Given the description of an element on the screen output the (x, y) to click on. 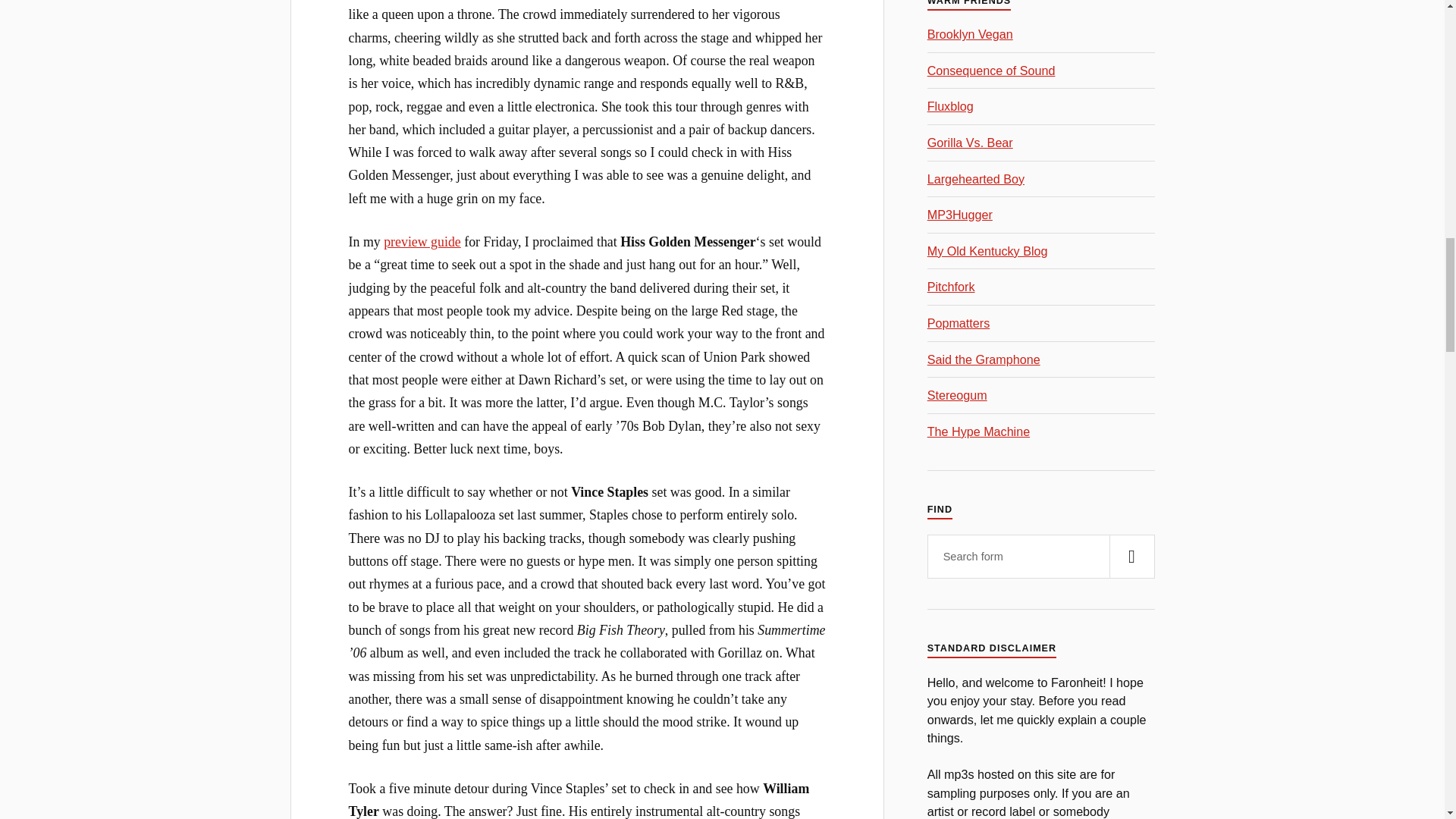
The bear would totally win (970, 142)
Music news and festival rumors (991, 69)
preview guide (422, 241)
Stream songs and check out music blogs (978, 431)
Hugs first, mp3s after.  (959, 214)
Pretentious much? (951, 286)
Links and downloads galore (976, 178)
The first-ever music blog (950, 106)
My goal is to turn him into Brooklyn Meateater (970, 33)
Chew on this (957, 395)
